Given the description of an element on the screen output the (x, y) to click on. 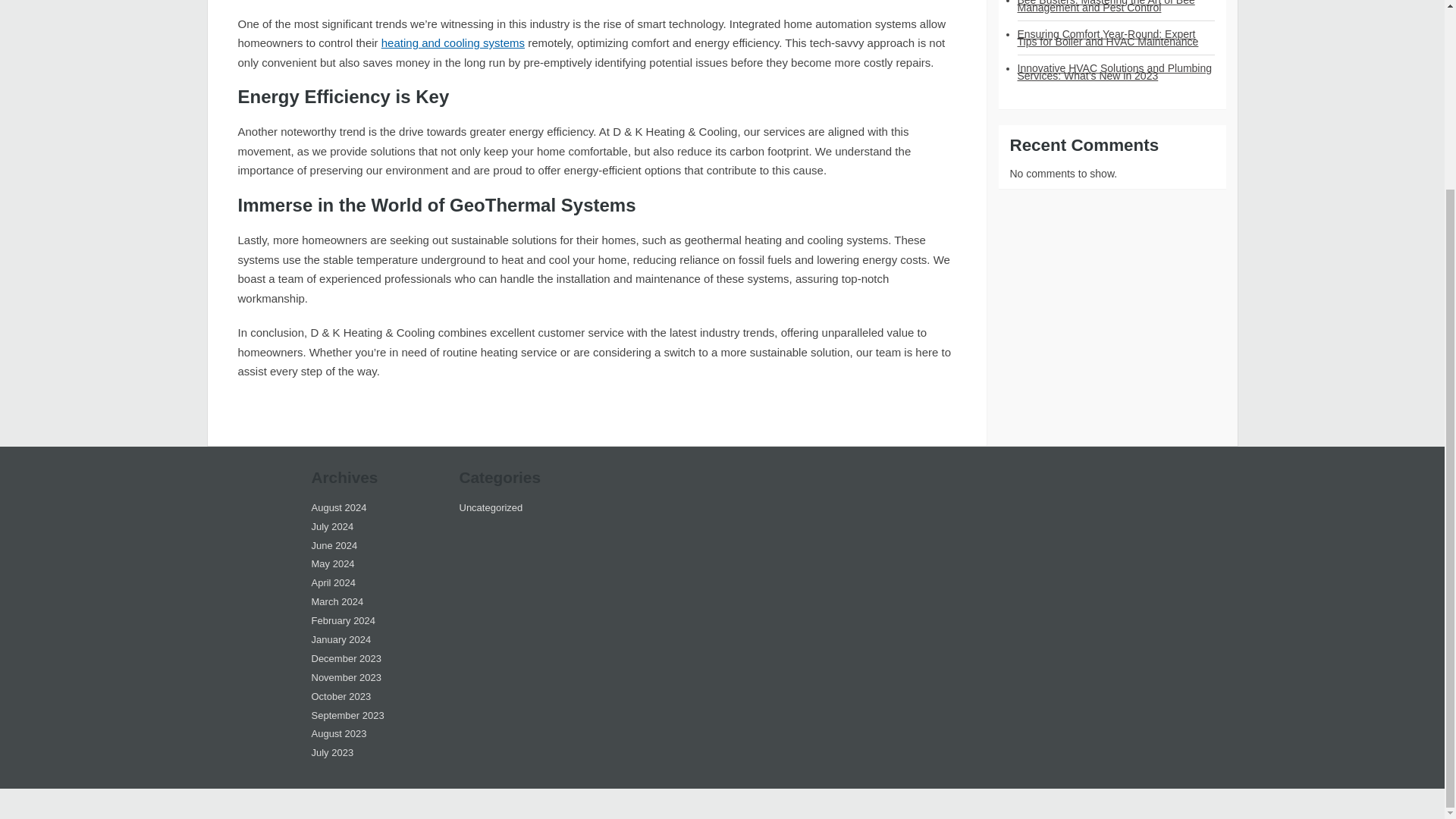
August 2023 (338, 733)
February 2024 (343, 620)
April 2024 (333, 582)
June 2024 (333, 545)
heating and cooling systems (452, 42)
August 2024 (338, 507)
December 2023 (346, 658)
November 2023 (346, 677)
January 2024 (341, 639)
